Given the description of an element on the screen output the (x, y) to click on. 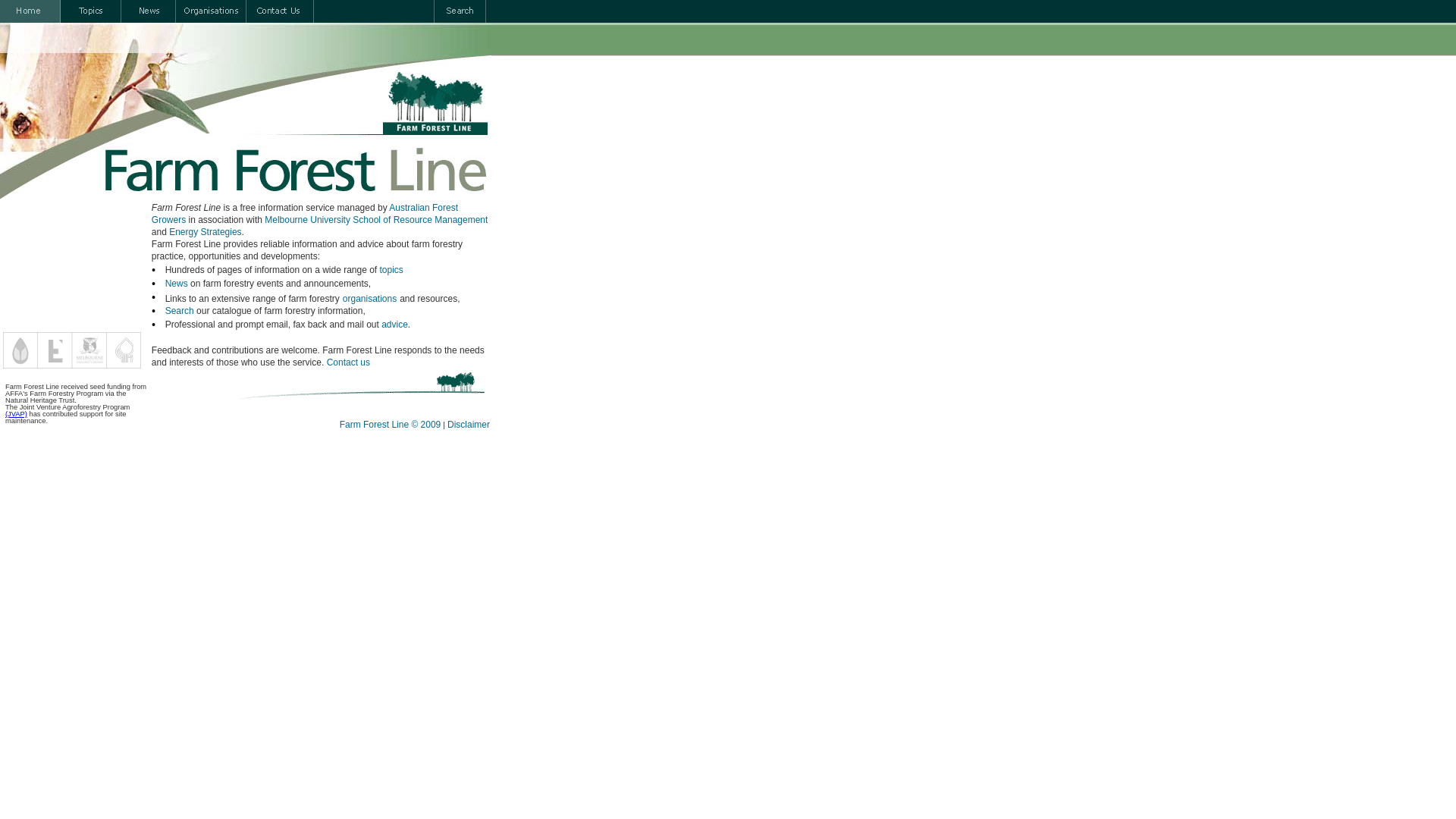
advice Element type: text (394, 324)
topics Element type: text (391, 269)
Energy Strategies Element type: text (205, 231)
Melbourne University School of Resource Management Element type: text (375, 219)
Contact us Element type: text (348, 362)
Disclaimer Element type: text (468, 424)
News Element type: text (176, 283)
Australian Forest Growers Element type: text (304, 213)
(JVAP) Element type: text (16, 413)
Search Element type: text (179, 310)
organisations Element type: text (369, 298)
